Given the description of an element on the screen output the (x, y) to click on. 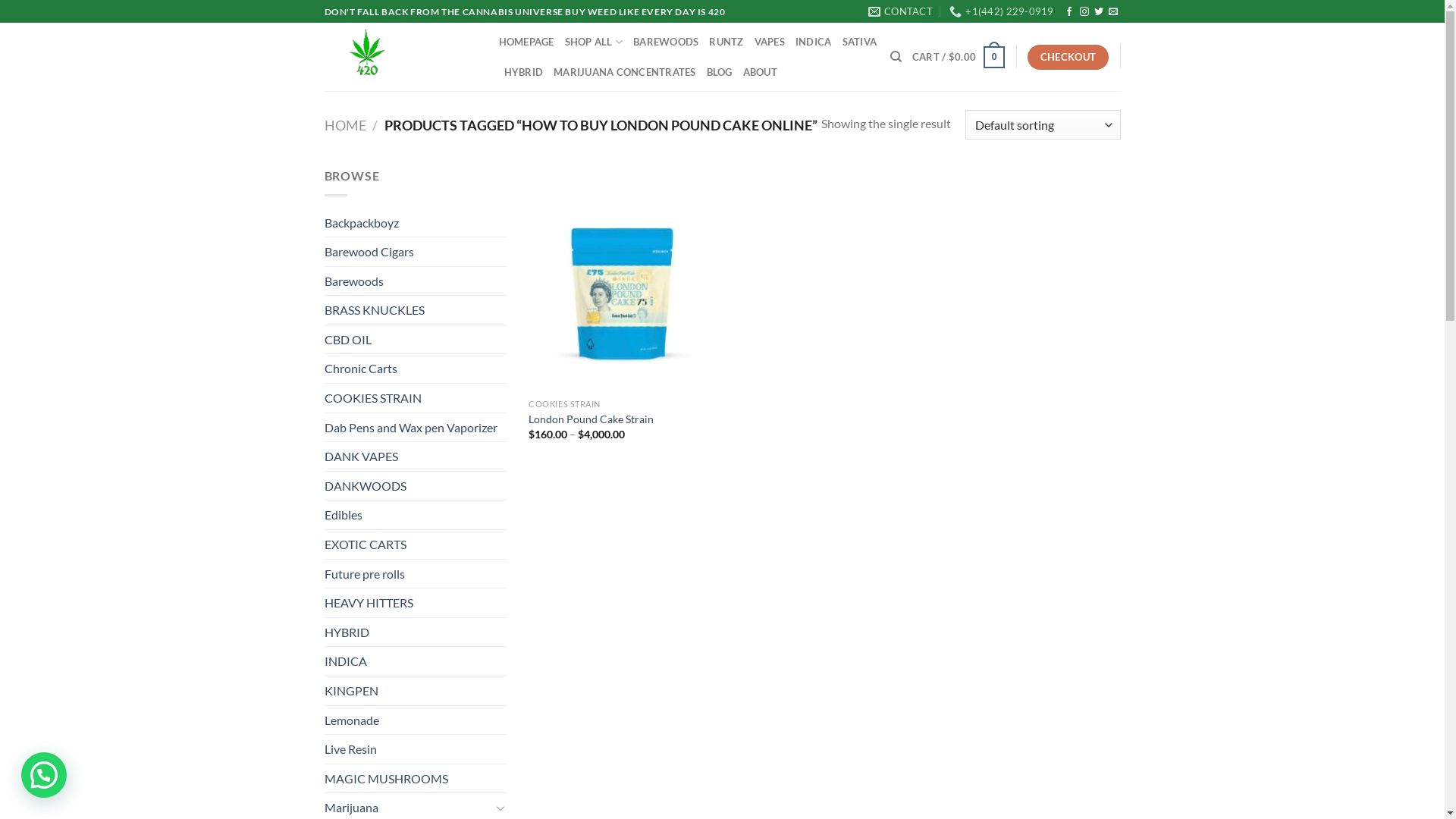
Lemonade Element type: text (415, 720)
HYBRID Element type: text (415, 632)
SHOP ALL Element type: text (593, 41)
HOMEPAGE Element type: text (526, 41)
ABOUT Element type: text (760, 71)
KINGPEN Element type: text (415, 690)
EXOTIC CARTS Element type: text (415, 544)
Future pre rolls Element type: text (415, 573)
INDICA Element type: text (415, 660)
BAREWOODS Element type: text (665, 41)
SATIVA Element type: text (858, 41)
BLOG Element type: text (719, 71)
MARIJUANA CONCENTRATES Element type: text (624, 71)
CART / $0.00
0 Element type: text (958, 57)
RUNTZ Element type: text (726, 41)
Live Resin Element type: text (415, 748)
Edibles Element type: text (415, 514)
DANKWOODS Element type: text (415, 485)
HEAVY HITTERS Element type: text (415, 602)
+1(442) 229-0919 Element type: text (1001, 11)
BRASS KNUCKLES Element type: text (415, 309)
VAPES Element type: text (769, 41)
CONTACT Element type: text (900, 11)
Backpackboyz Element type: text (415, 222)
CHECKOUT Element type: text (1067, 56)
Dab Pens and Wax pen Vaporizer Element type: text (415, 427)
Barewoods Element type: text (415, 280)
INDICA Element type: text (813, 41)
MAGIC MUSHROOMS Element type: text (415, 778)
COOKIES STRAIN Element type: text (415, 397)
Barewood Cigars Element type: text (415, 251)
HYBRID Element type: text (522, 71)
HOME Element type: text (345, 124)
DANK VAPES Element type: text (415, 456)
CBD OIL Element type: text (415, 339)
Chronic Carts Element type: text (415, 368)
London Pound Cake Strain Element type: text (590, 419)
